Given the description of an element on the screen output the (x, y) to click on. 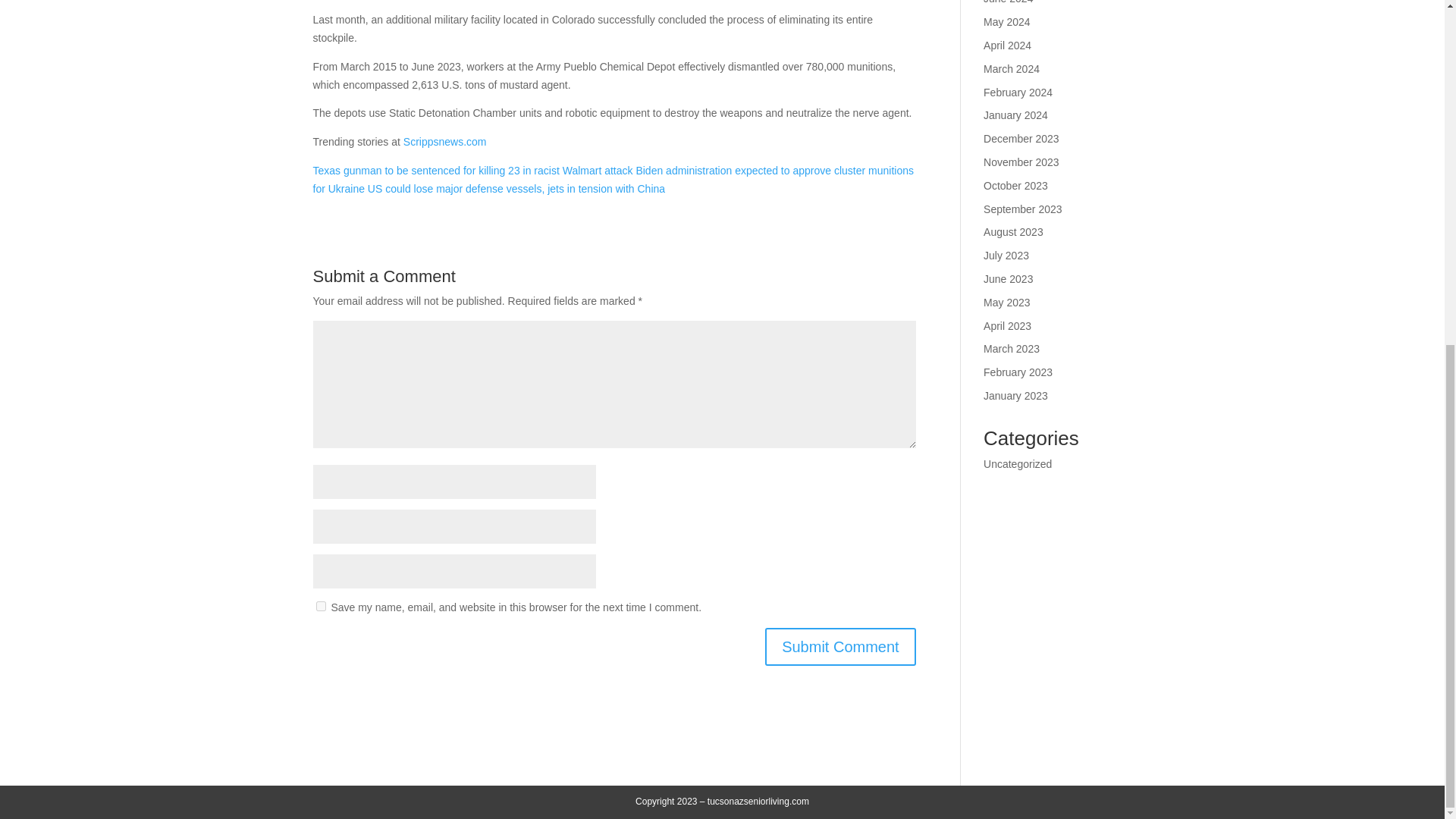
March 2023 (1011, 348)
October 2023 (1016, 185)
January 2023 (1016, 395)
April 2024 (1007, 45)
Submit Comment (840, 646)
Scrippsnews.com (444, 141)
July 2023 (1006, 255)
yes (319, 605)
May 2023 (1006, 302)
June 2023 (1008, 278)
Submit Comment (840, 646)
August 2023 (1013, 232)
June 2024 (1008, 2)
March 2024 (1011, 69)
